Given the description of an element on the screen output the (x, y) to click on. 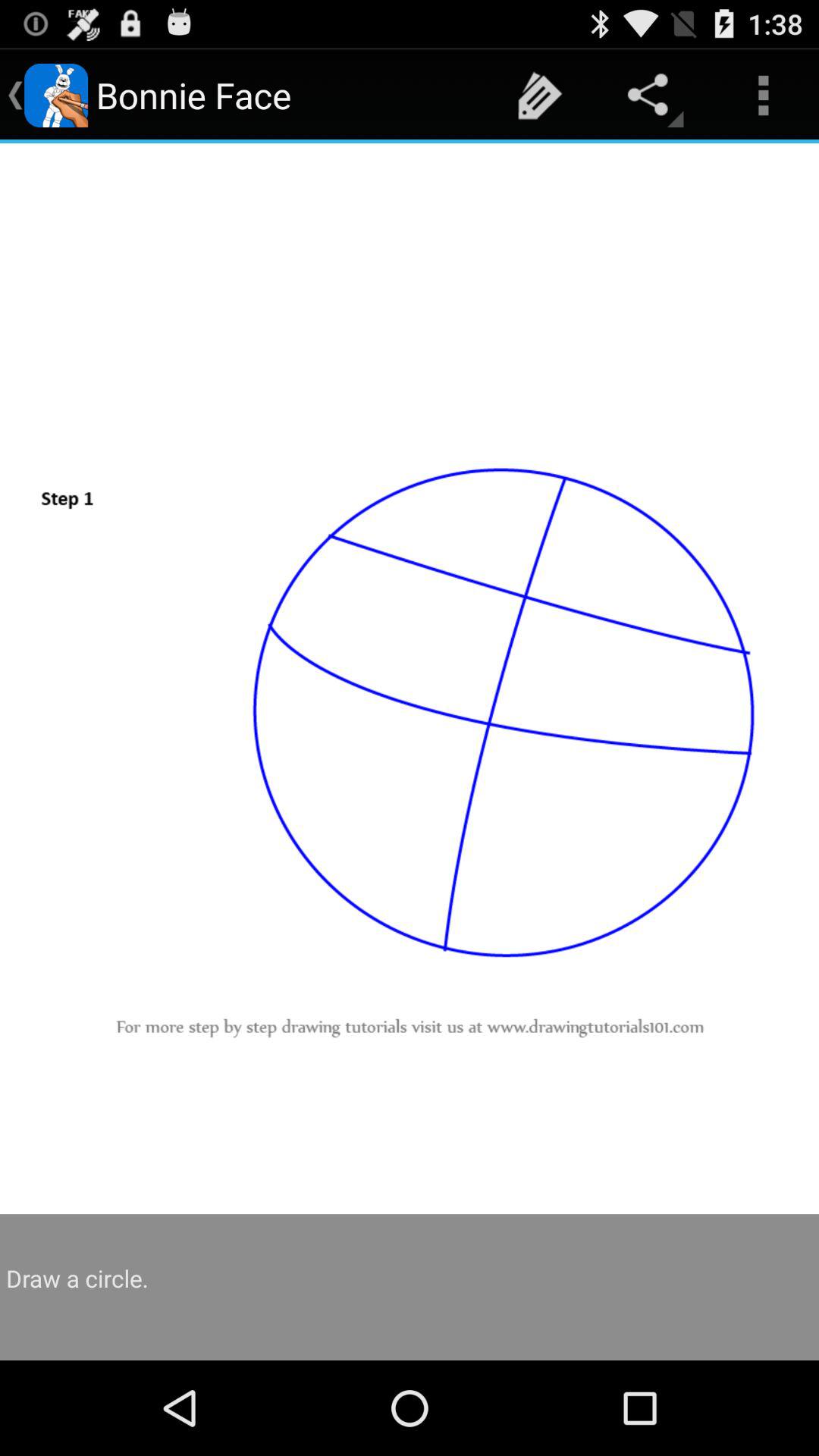
turn on item to the right of the bonnie face icon (540, 95)
